Given the description of an element on the screen output the (x, y) to click on. 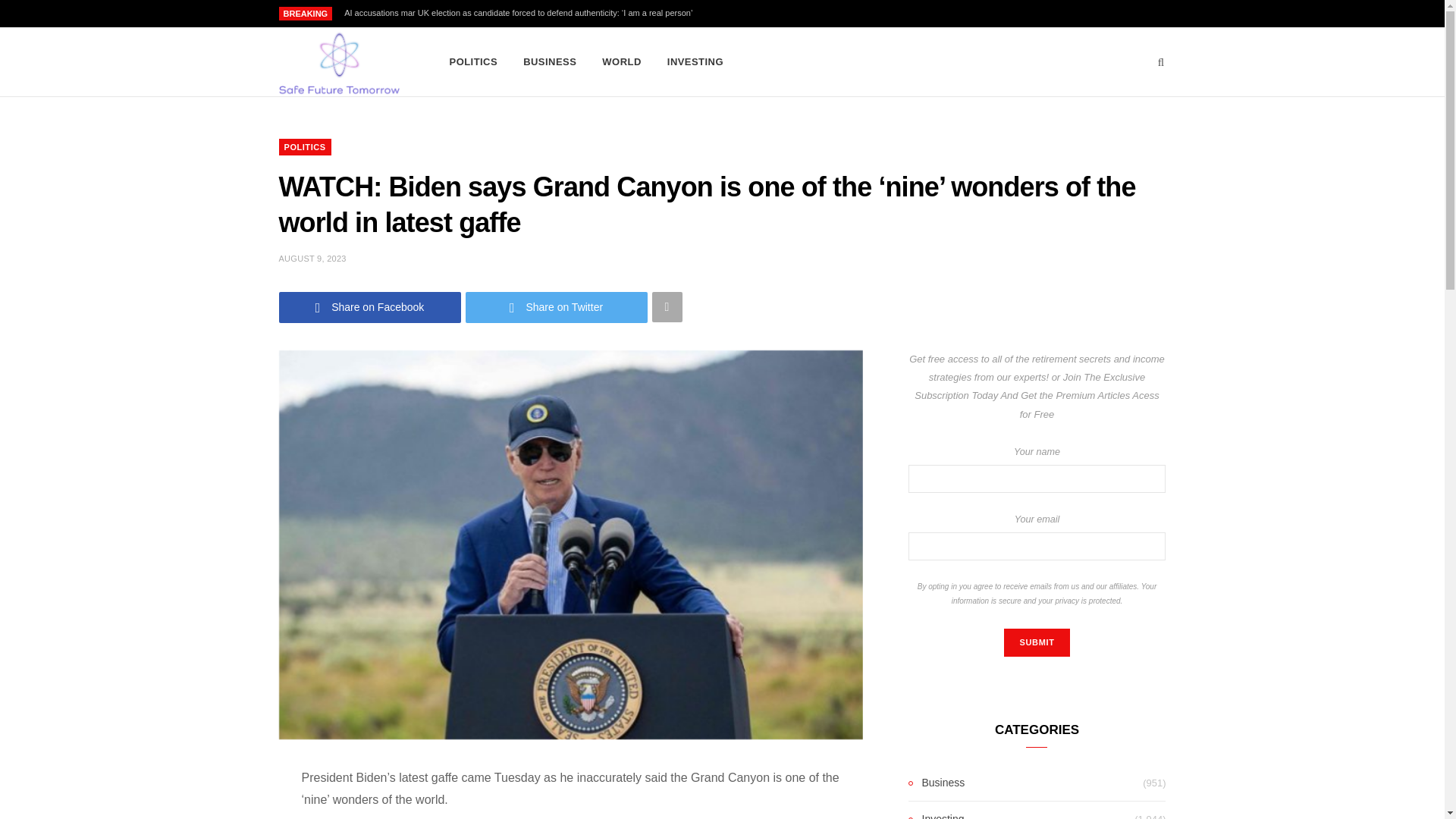
Share on Twitter (556, 306)
Share on Facebook (370, 306)
BUSINESS (550, 61)
Submit (1036, 642)
POLITICS (473, 61)
POLITICS (305, 146)
Share on Twitter (556, 306)
INVESTING (695, 61)
AUGUST 9, 2023 (312, 257)
Safe Future Tomorrow (338, 61)
WORLD (621, 61)
Share on Facebook (370, 306)
